Given the description of an element on the screen output the (x, y) to click on. 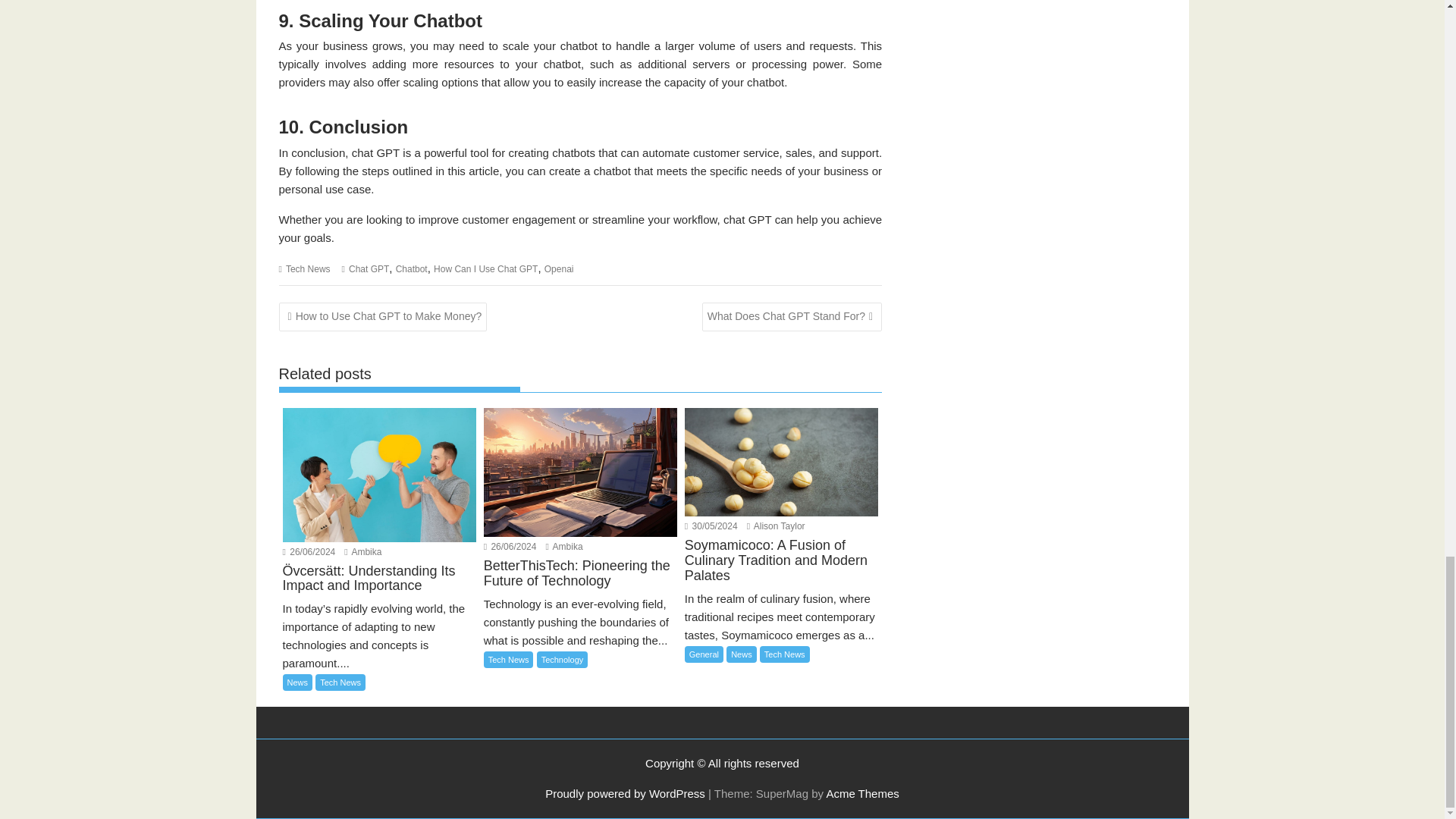
Alison Taylor (775, 525)
Ambika (564, 546)
Ambika (362, 552)
